Given the description of an element on the screen output the (x, y) to click on. 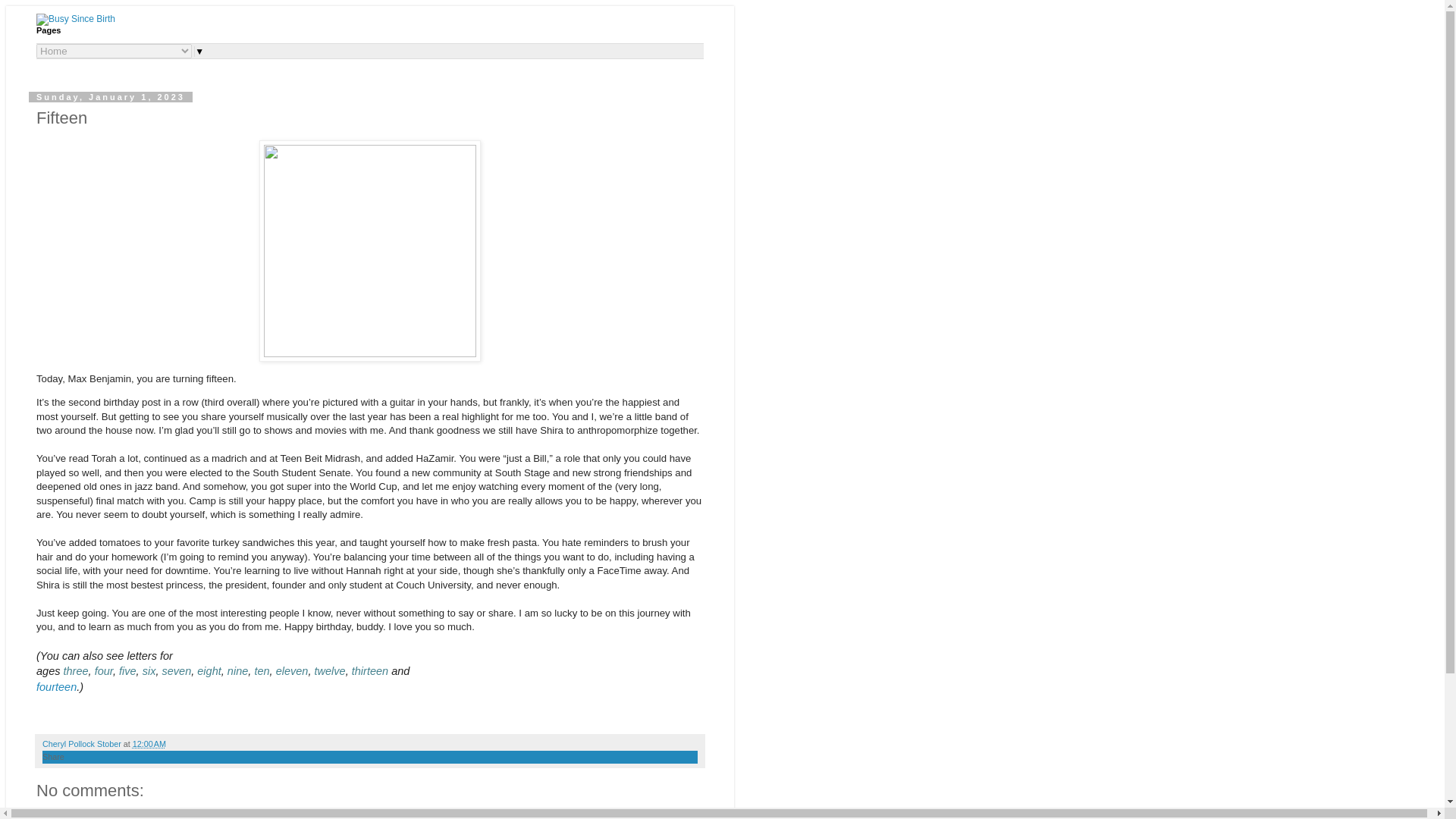
author profile (82, 743)
twelve (330, 671)
permanent link (148, 743)
Post a Comment (98, 816)
seven (175, 671)
four (103, 671)
six (148, 671)
Share (53, 756)
five (127, 671)
fourteen (56, 686)
ten (261, 671)
eleven (292, 671)
thirteen (370, 671)
nine (237, 671)
